Given the description of an element on the screen output the (x, y) to click on. 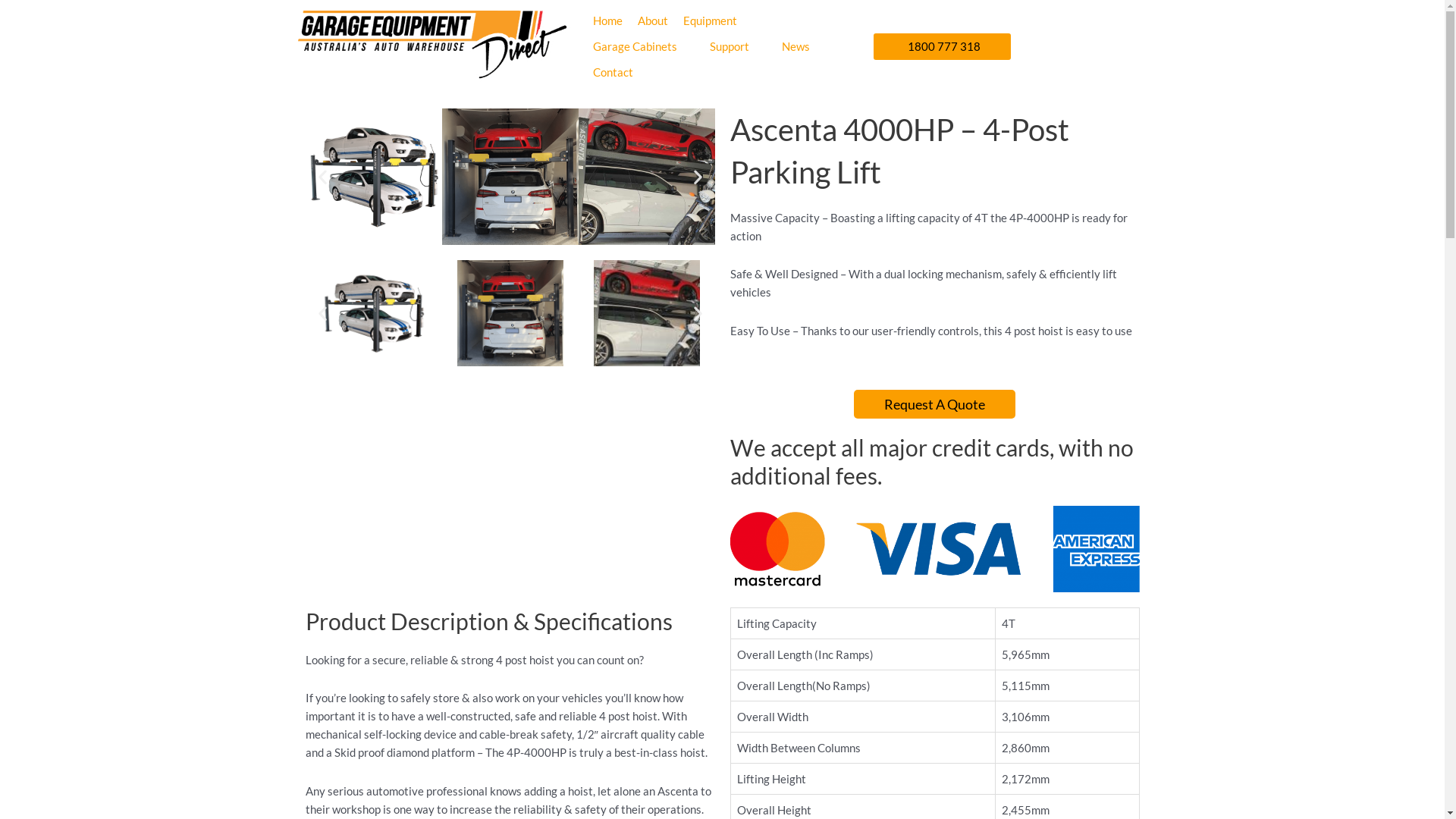
Garage Cabinets Element type: text (635, 46)
About Element type: text (652, 20)
Equipment Element type: text (710, 20)
1800 777 318 Element type: text (941, 46)
News Element type: text (795, 46)
Request A Quote Element type: text (934, 403)
Support Element type: text (729, 46)
Home Element type: text (607, 20)
Contact Element type: text (613, 71)
